Given the description of an element on the screen output the (x, y) to click on. 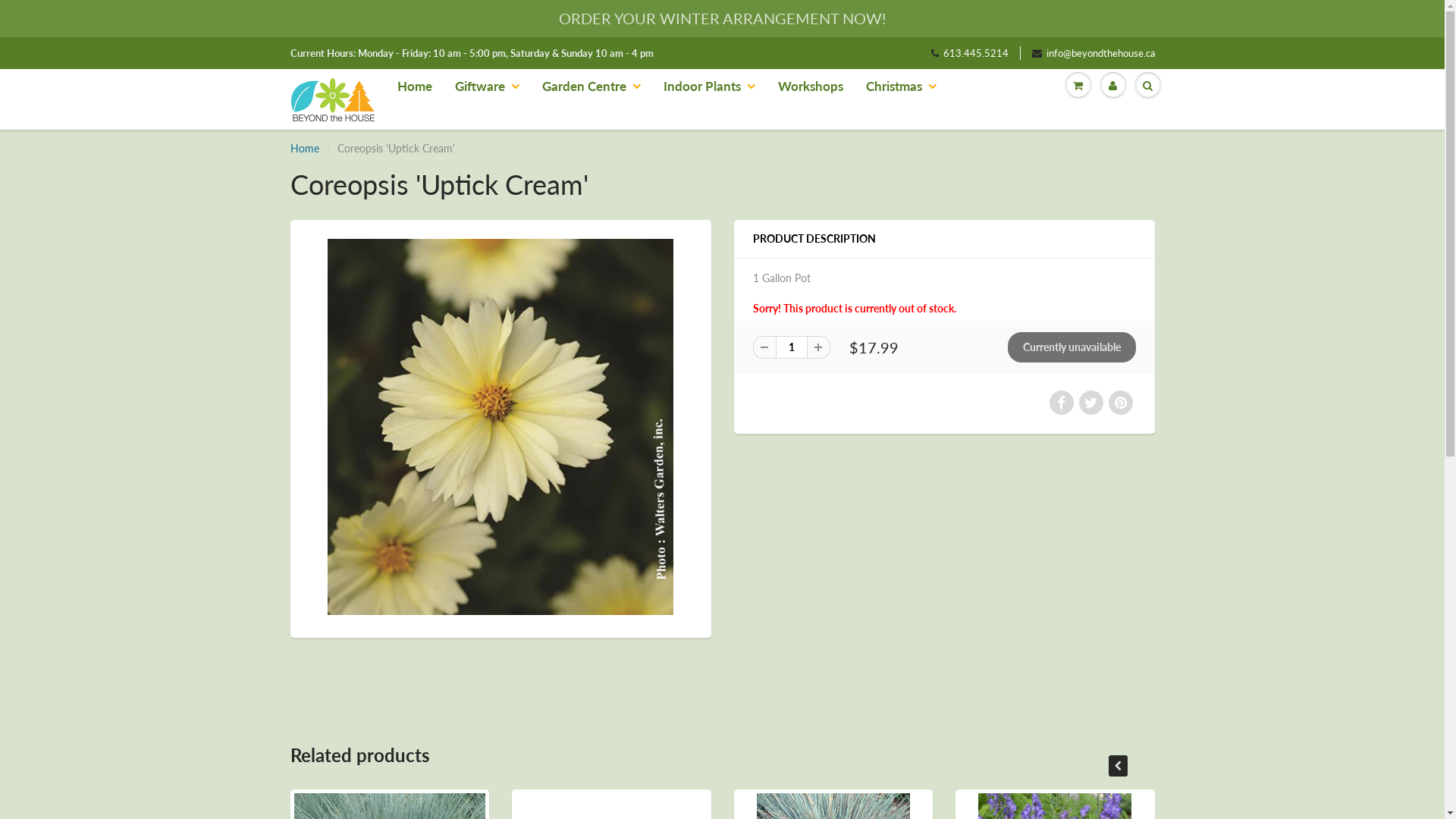
Christmas Element type: text (900, 86)
Giftware Element type: text (486, 86)
Indoor Plants Element type: text (709, 86)
Home Element type: text (413, 86)
Coreopsis 'Uptick Cream' | Beyond the House Element type: hover (499, 426)
info@beyondthehouse.ca Element type: text (1092, 53)
Workshops Element type: text (809, 86)
Home Element type: text (303, 147)
Currently unavailable Element type: text (1071, 347)
613.445.5214 Element type: text (969, 53)
Garden Centre Element type: text (591, 86)
